Given the description of an element on the screen output the (x, y) to click on. 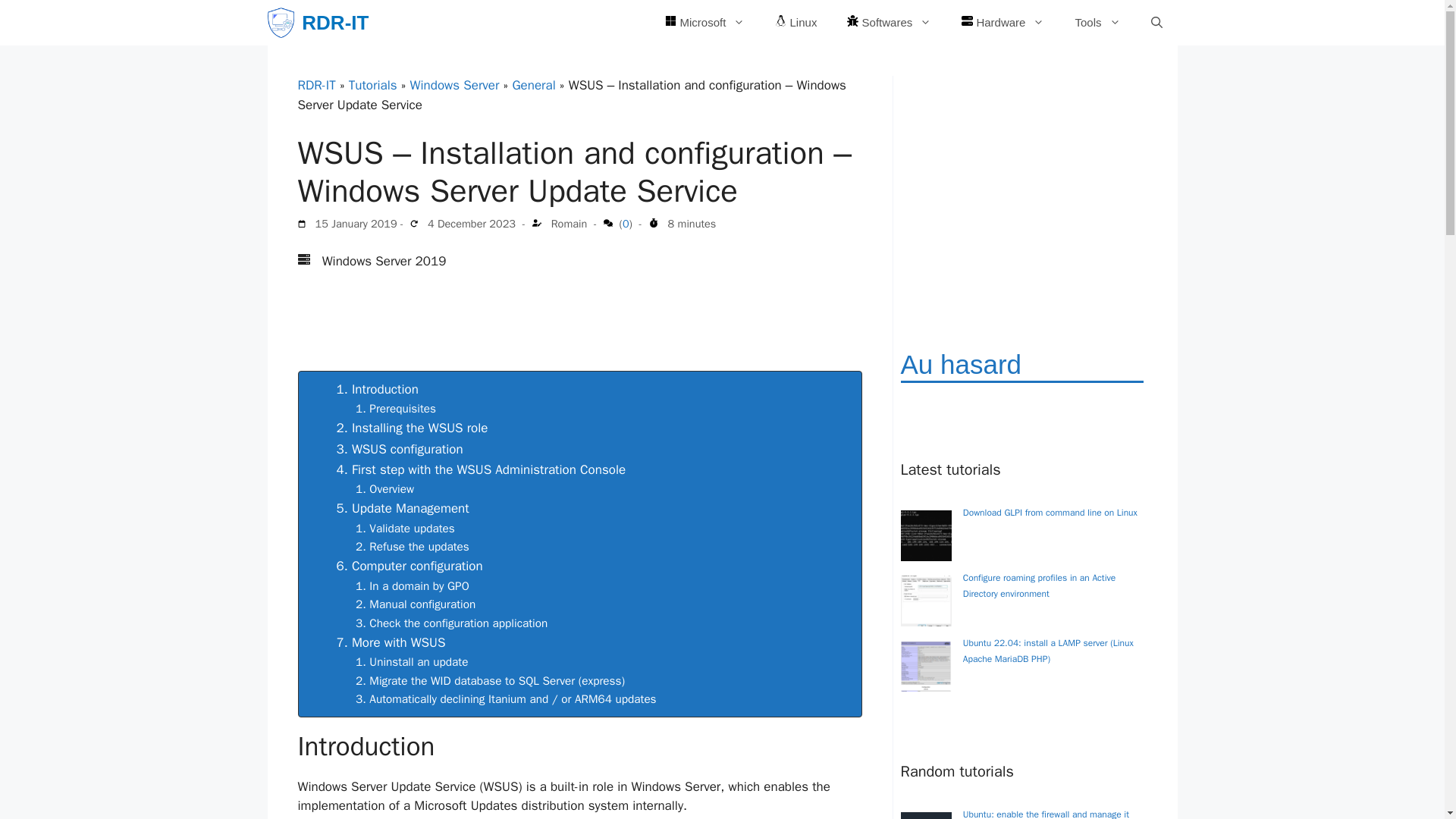
Softwares (888, 22)
Tools (1097, 22)
Prerequisites (402, 408)
RDR-IT (334, 22)
General (533, 84)
Computer configuration (417, 566)
Installing the WSUS role (419, 427)
Update Management (410, 507)
RDR-IT (315, 84)
Validate updates (411, 528)
Microsoft (704, 22)
WSUS configuration (407, 448)
Windows Server (454, 84)
Linux (795, 22)
In a domain by GPO (418, 586)
